Given the description of an element on the screen output the (x, y) to click on. 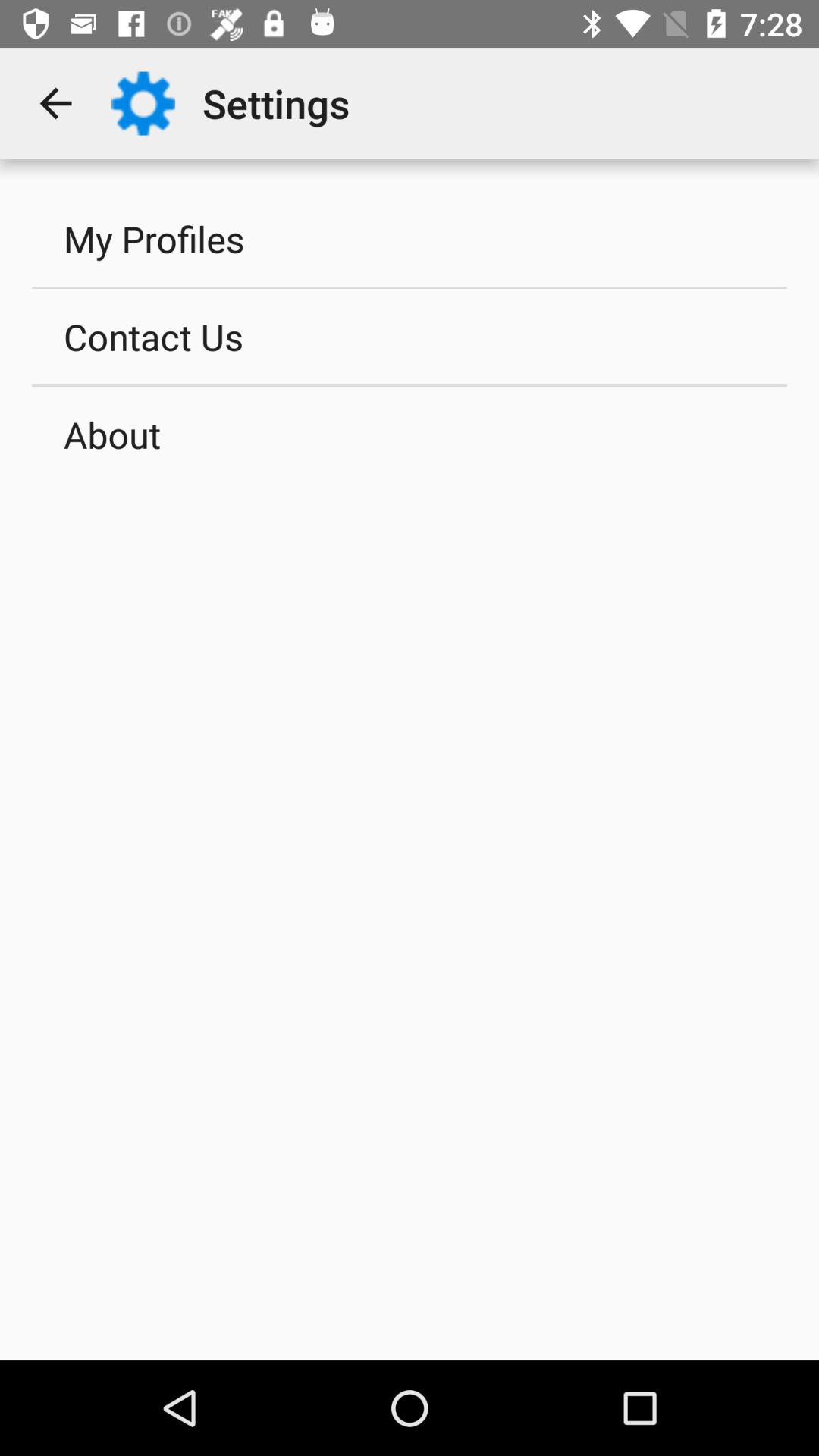
press the my profiles icon (409, 238)
